Given the description of an element on the screen output the (x, y) to click on. 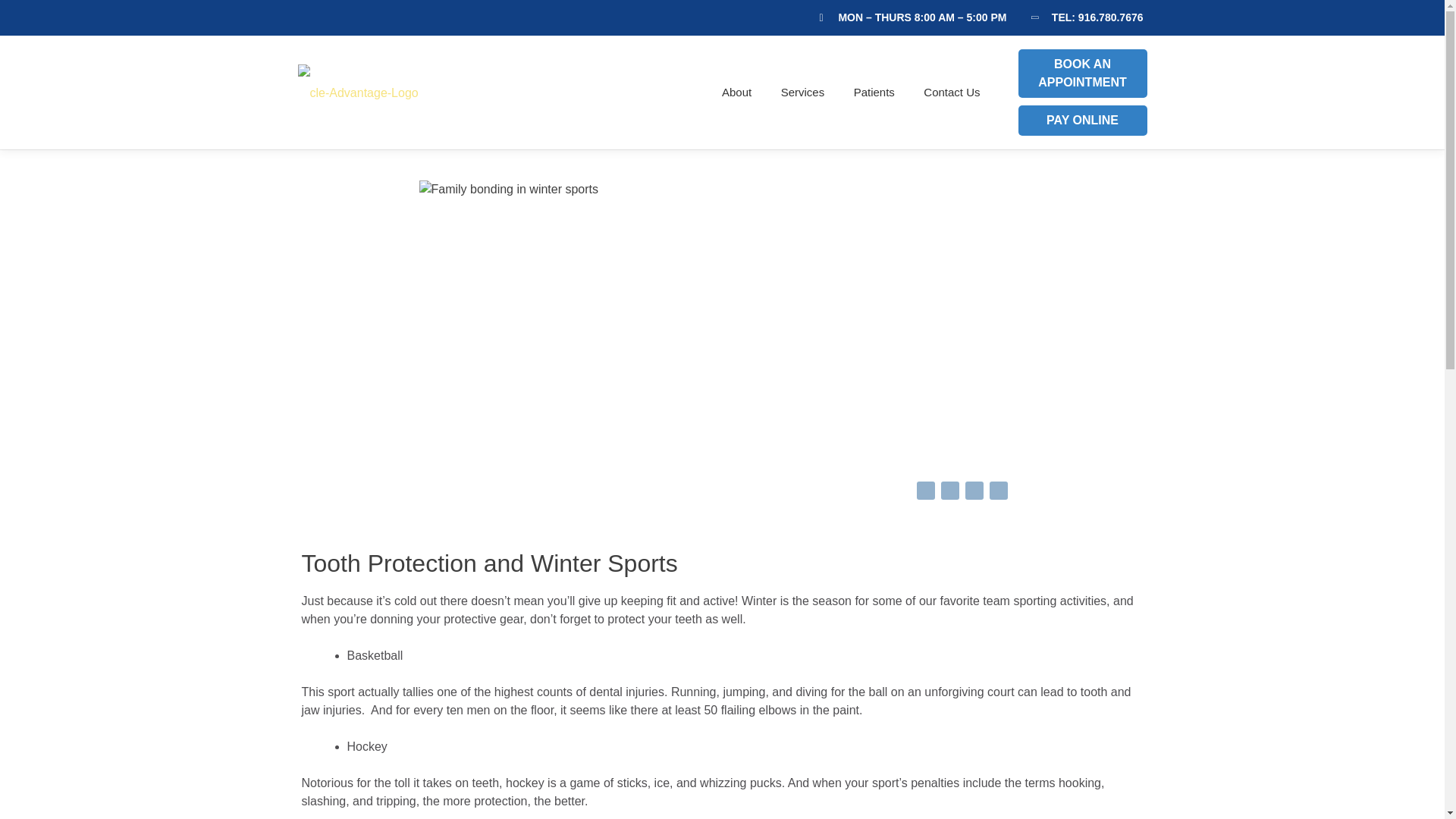
About (736, 92)
Opens in new tab (972, 493)
Opens in new tab (1082, 73)
Patients (874, 92)
LinkedIn (972, 493)
Opens in new tab (924, 493)
BOOK AN APPOINTMENT (1082, 73)
Twitter (948, 493)
916.780.7676 (1110, 17)
PAY ONLINE (1082, 120)
Email (997, 493)
Opens in new tab (948, 493)
Opens in new tab (997, 493)
Services (803, 92)
Contact Us (945, 92)
